Given the description of an element on the screen output the (x, y) to click on. 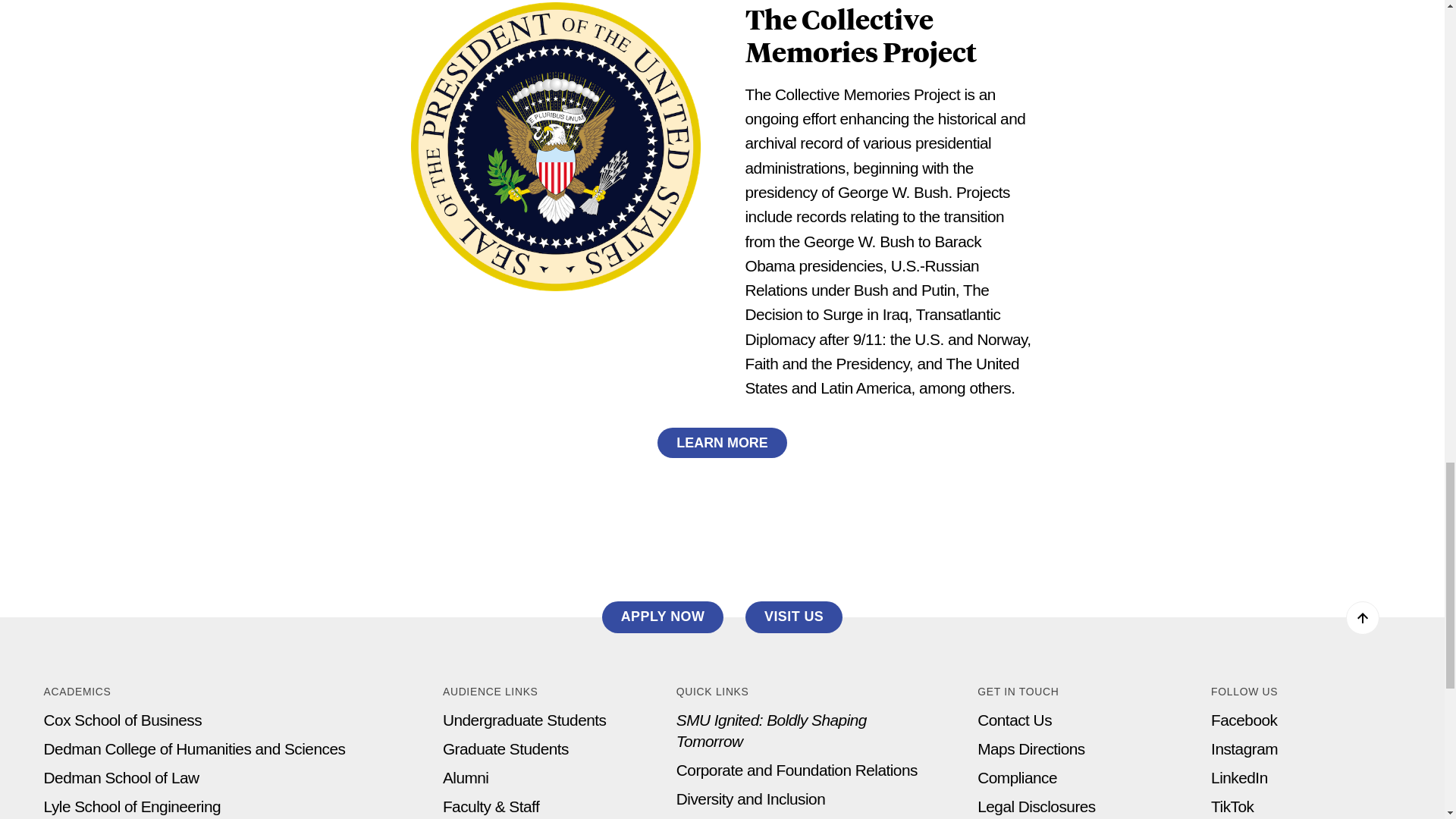
LEARN MORE (722, 442)
Alumni (465, 777)
Cox School of Business (122, 719)
Dedman School of Law (121, 777)
Dedman School of Law (121, 777)
Back to top (1361, 617)
Undergraduate Students (524, 719)
Lyle School of Engineering (132, 805)
APPLY NOW (662, 617)
Diversity and Inclusion (751, 798)
Graduate Students (505, 748)
Dedman College of Humanities and Sciences (194, 748)
Corporate and Foundation Relations (797, 769)
VISIT US (794, 617)
Dedman College of Humanities and Sciences (194, 748)
